Given the description of an element on the screen output the (x, y) to click on. 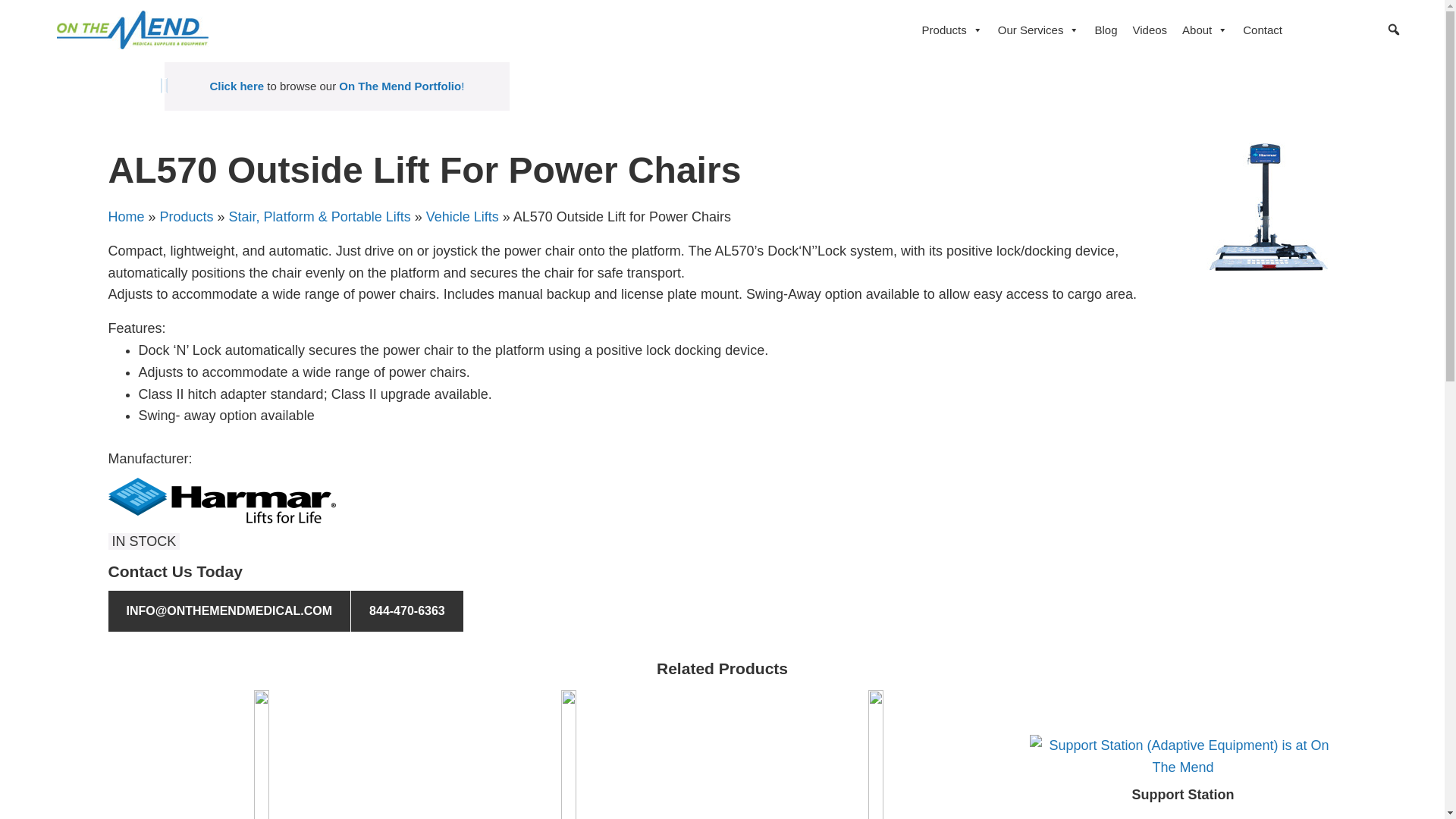
Products (952, 29)
Contact (1262, 29)
Reviews (1332, 29)
Videos (1149, 29)
Our Services (1038, 29)
 On The Mend Portfolio! (400, 85)
Click here (236, 85)
About (1204, 29)
